Given the description of an element on the screen output the (x, y) to click on. 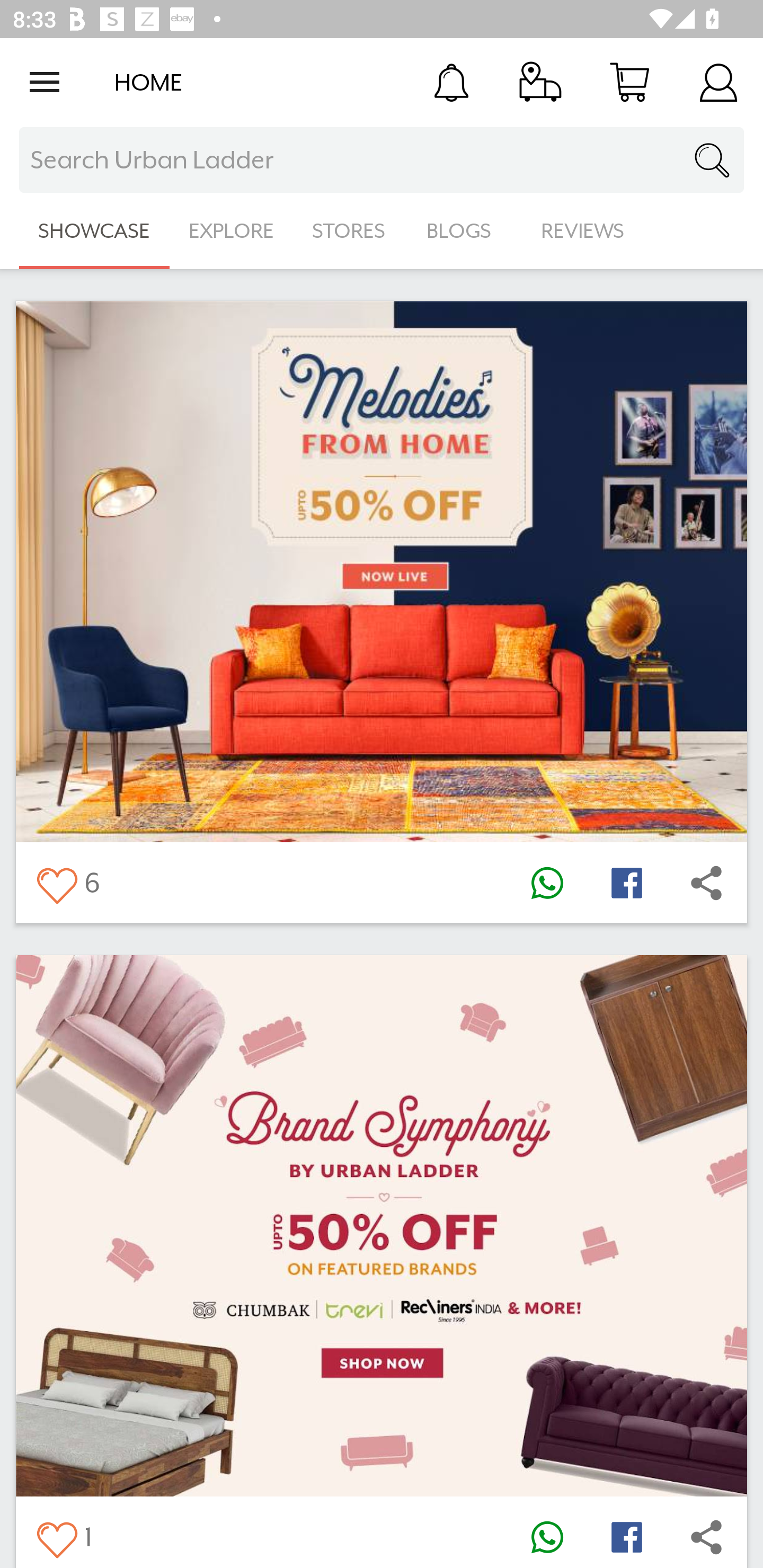
Open navigation drawer (44, 82)
Notification (450, 81)
Track Order (540, 81)
Cart (629, 81)
Account Details (718, 81)
Search Urban Ladder  (381, 159)
SHOWCASE (94, 230)
EXPLORE (230, 230)
STORES (349, 230)
BLOGS (464, 230)
REVIEWS (582, 230)
 (55, 882)
 (547, 882)
 (626, 882)
 (706, 882)
 (55, 1536)
 (547, 1536)
 (626, 1536)
 (706, 1536)
